Given the description of an element on the screen output the (x, y) to click on. 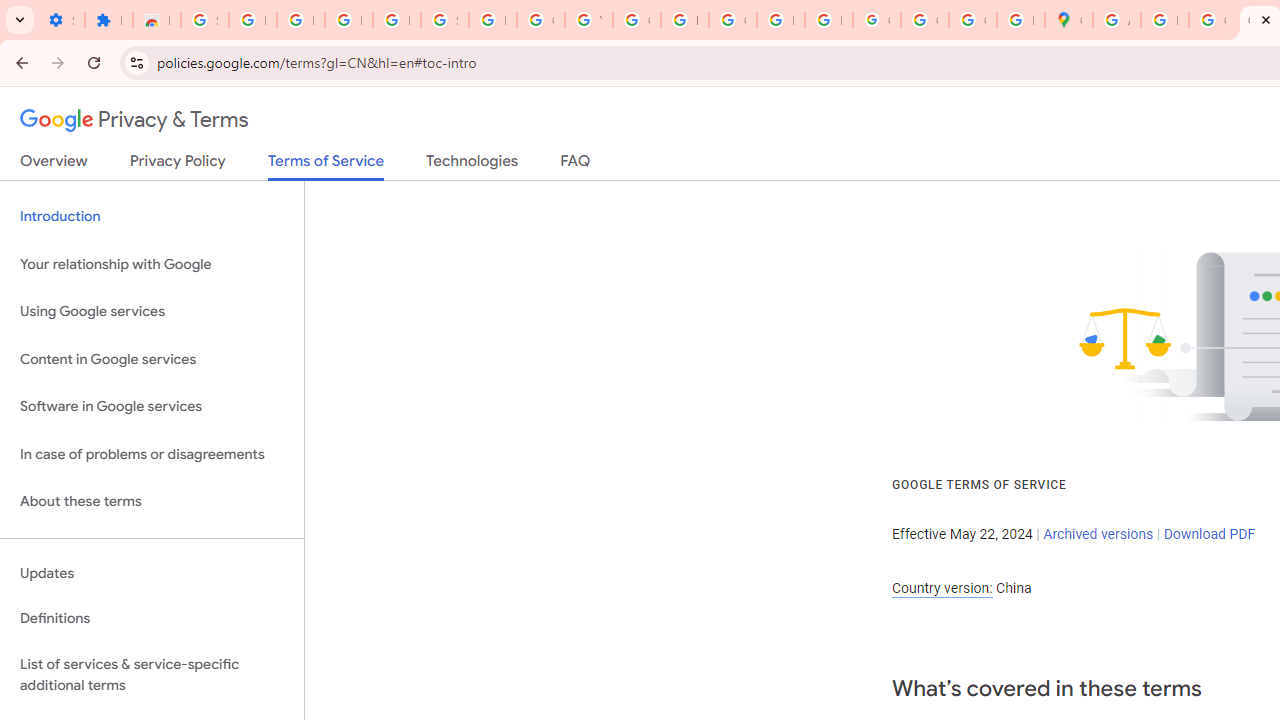
Learn how to find your photos - Google Photos Help (348, 20)
Reload (93, 62)
Definitions (152, 619)
Back (19, 62)
System (10, 11)
View site information (136, 62)
